Given the description of an element on the screen output the (x, y) to click on. 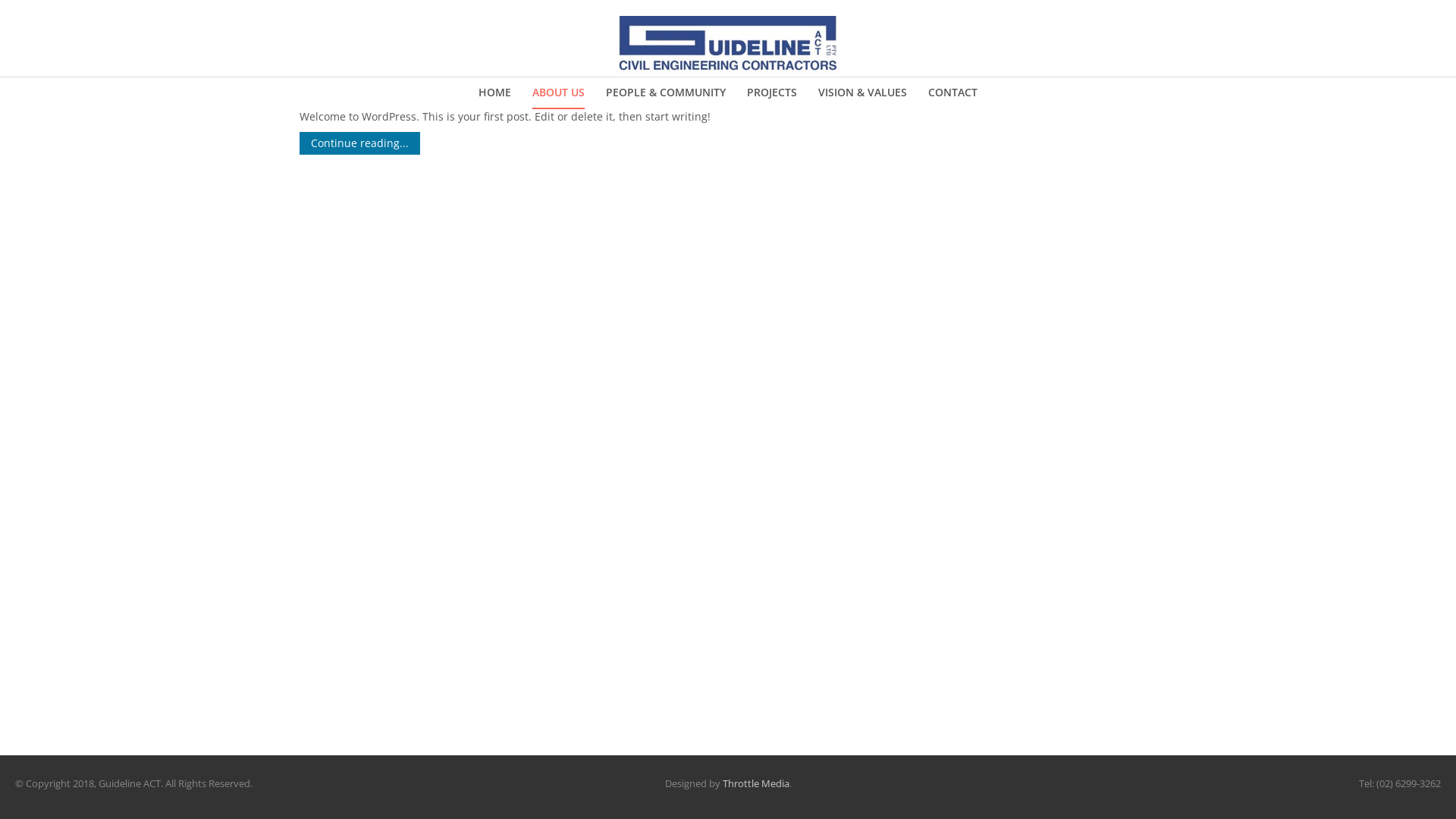
ABOUT US Element type: text (558, 93)
Throttle Media Element type: text (754, 783)
HOME Element type: text (494, 92)
PEOPLE & COMMUNITY Element type: text (665, 92)
VISION & VALUES Element type: text (862, 92)
CONTACT Element type: text (952, 92)
Continue reading... Element type: text (359, 142)
PROJECTS Element type: text (771, 92)
